Given the description of an element on the screen output the (x, y) to click on. 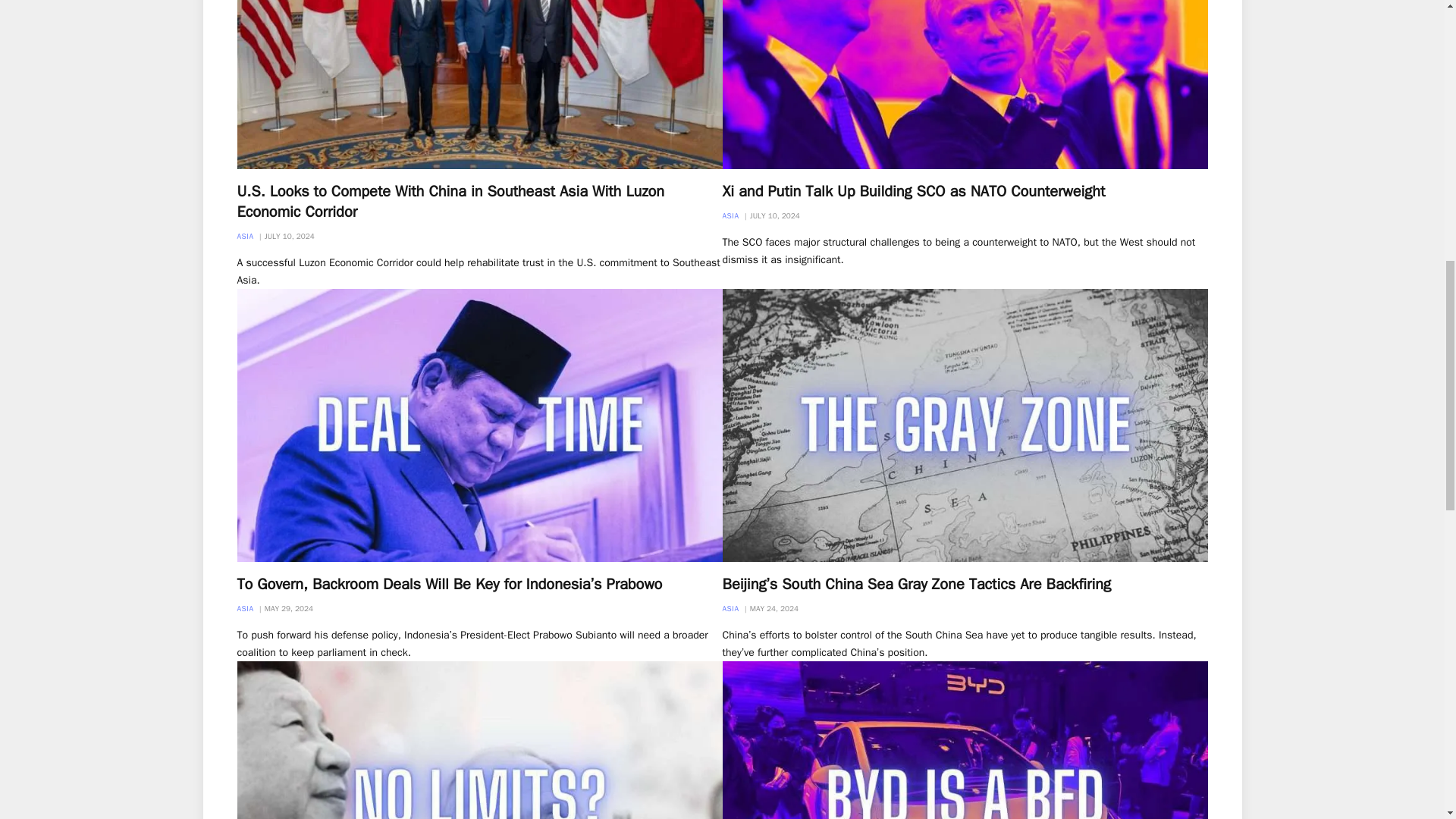
Xi and Putin Talk Up Building SCO as NATO Counterweight (964, 84)
